Given the description of an element on the screen output the (x, y) to click on. 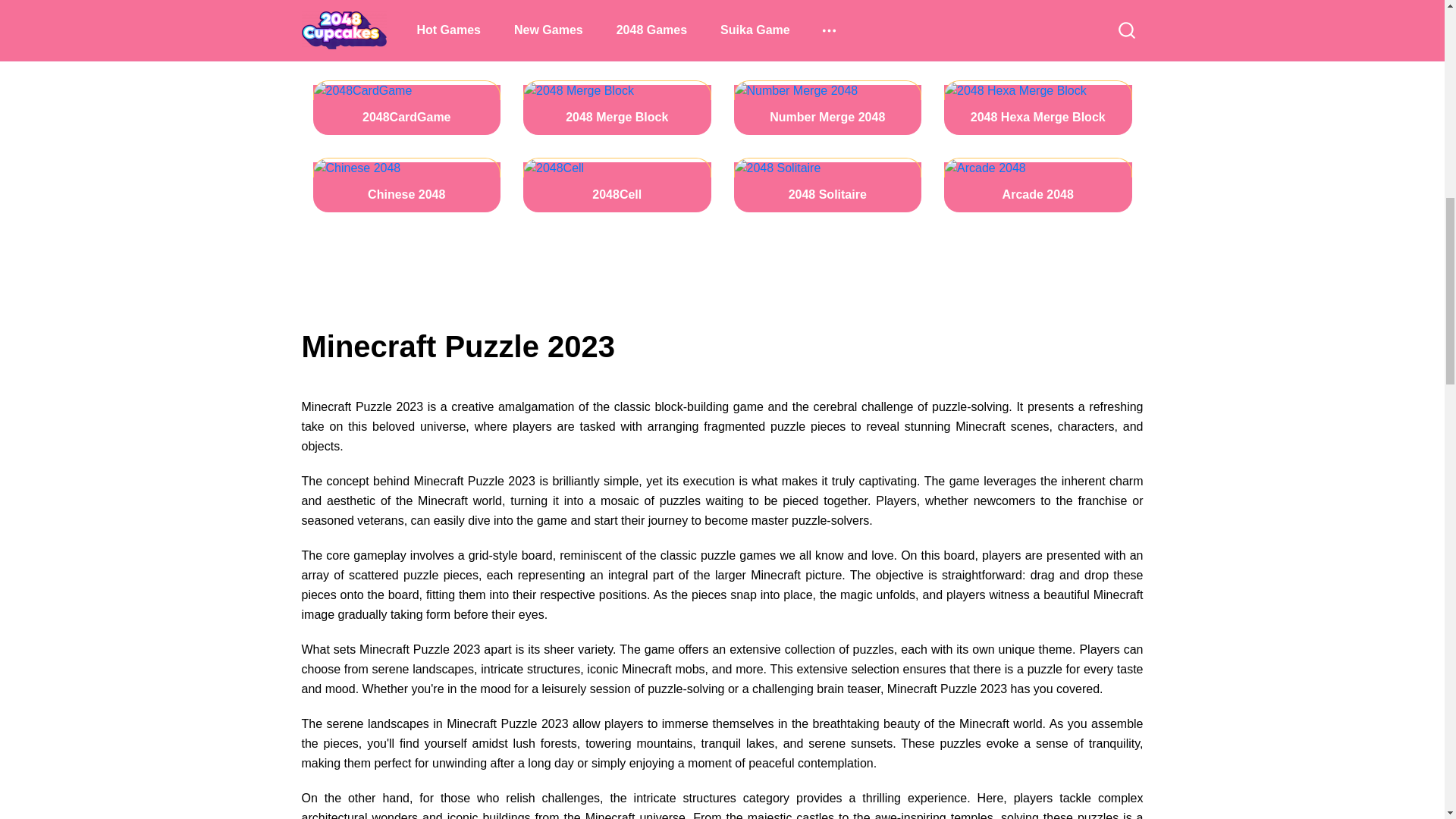
2048 Physics (616, 28)
2048 Hexa Merge Block (1037, 107)
BallRun2048 (827, 28)
Play 2048 Cupcakes (406, 28)
Play 2048 Physics (616, 28)
Number Merge 2048 (827, 107)
Chinese 2048 (406, 185)
2048 Cupcakes (406, 28)
2048 Solitaire (827, 185)
2048Cell (616, 185)
